Given the description of an element on the screen output the (x, y) to click on. 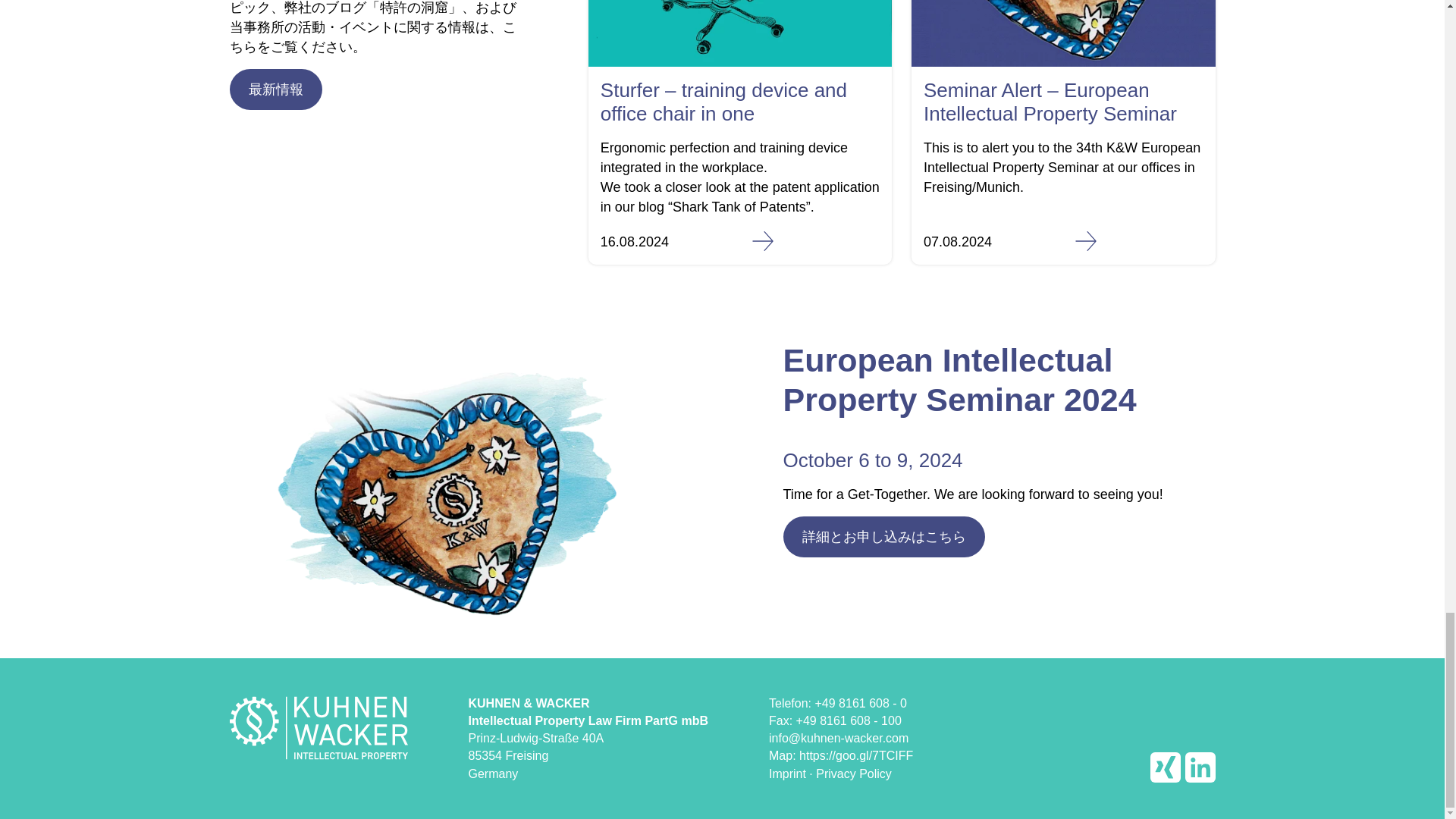
zur Startseite (317, 727)
Linkedin (1199, 767)
XING (1164, 767)
